Given the description of an element on the screen output the (x, y) to click on. 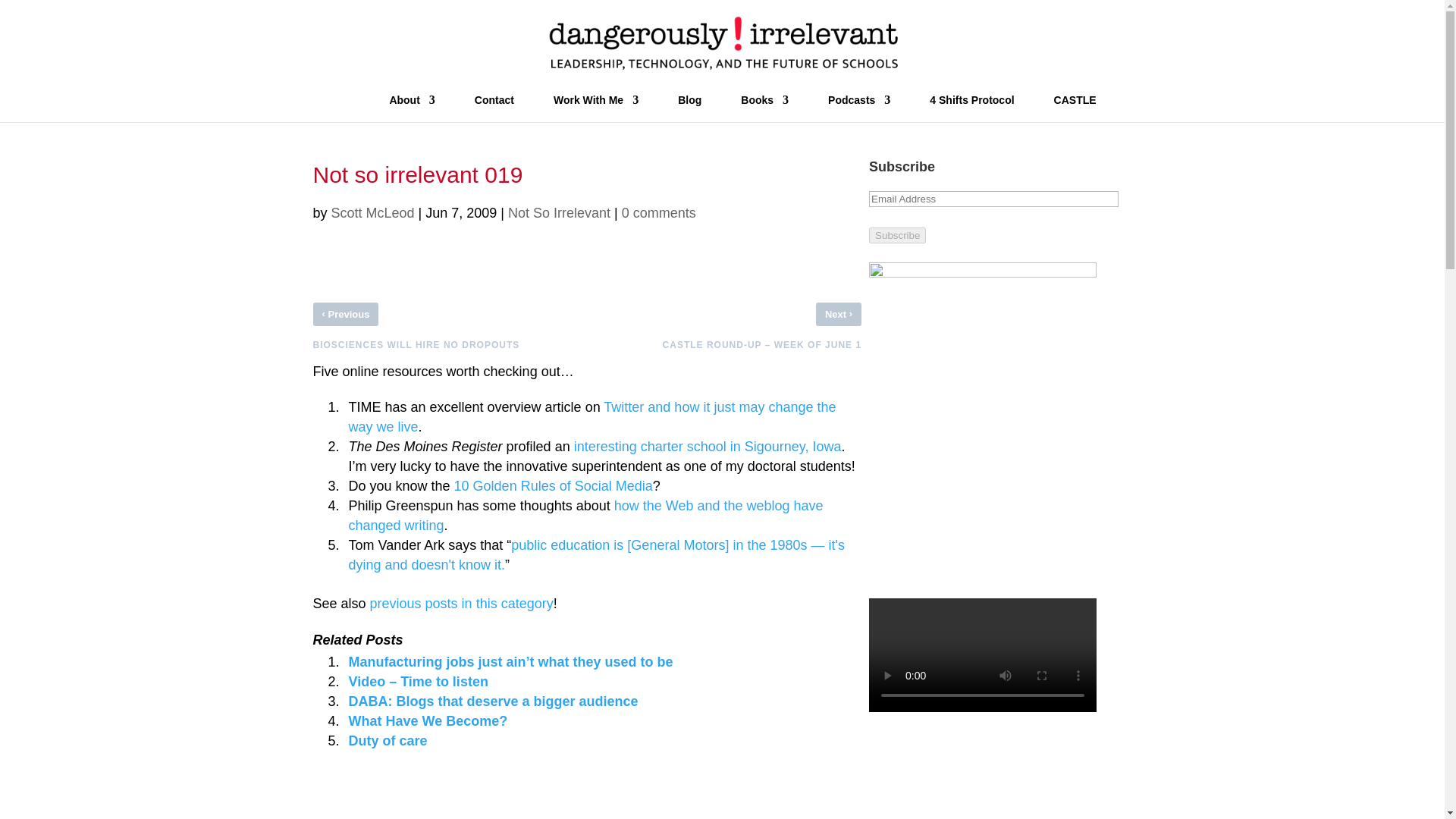
What Have We Become? (428, 720)
Podcasts (858, 108)
Books (765, 108)
DABA: Blogs that deserve a bigger audience (494, 701)
Scott McLeod (372, 212)
Work With Me (596, 108)
previous posts in this category (461, 603)
how the Web and the weblog have changed writing (586, 515)
interesting charter school in Sigourney, Iowa (707, 446)
Twitter and how it just may change the way we live (592, 416)
